Given the description of an element on the screen output the (x, y) to click on. 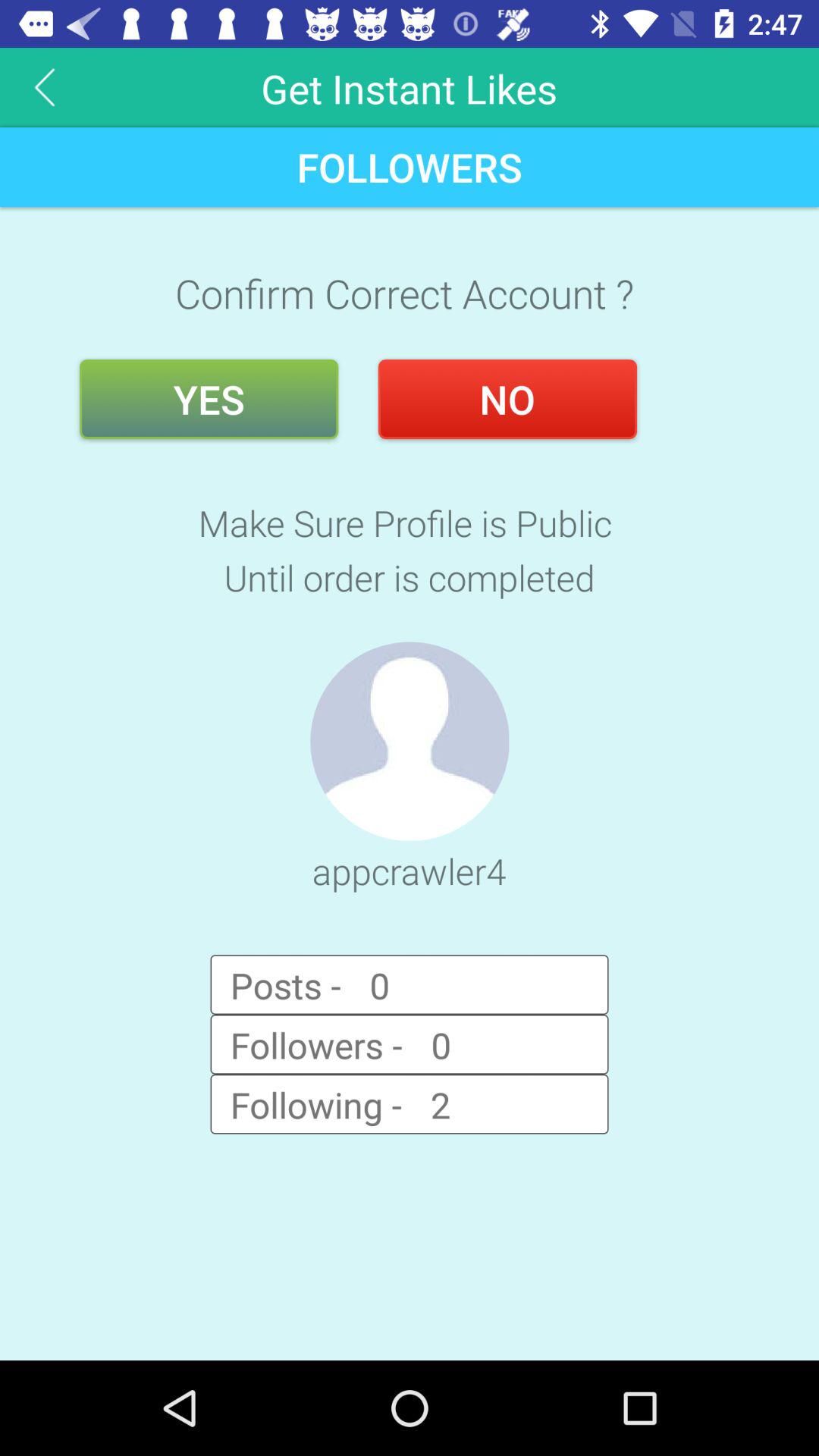
tap item above the followers item (44, 87)
